Given the description of an element on the screen output the (x, y) to click on. 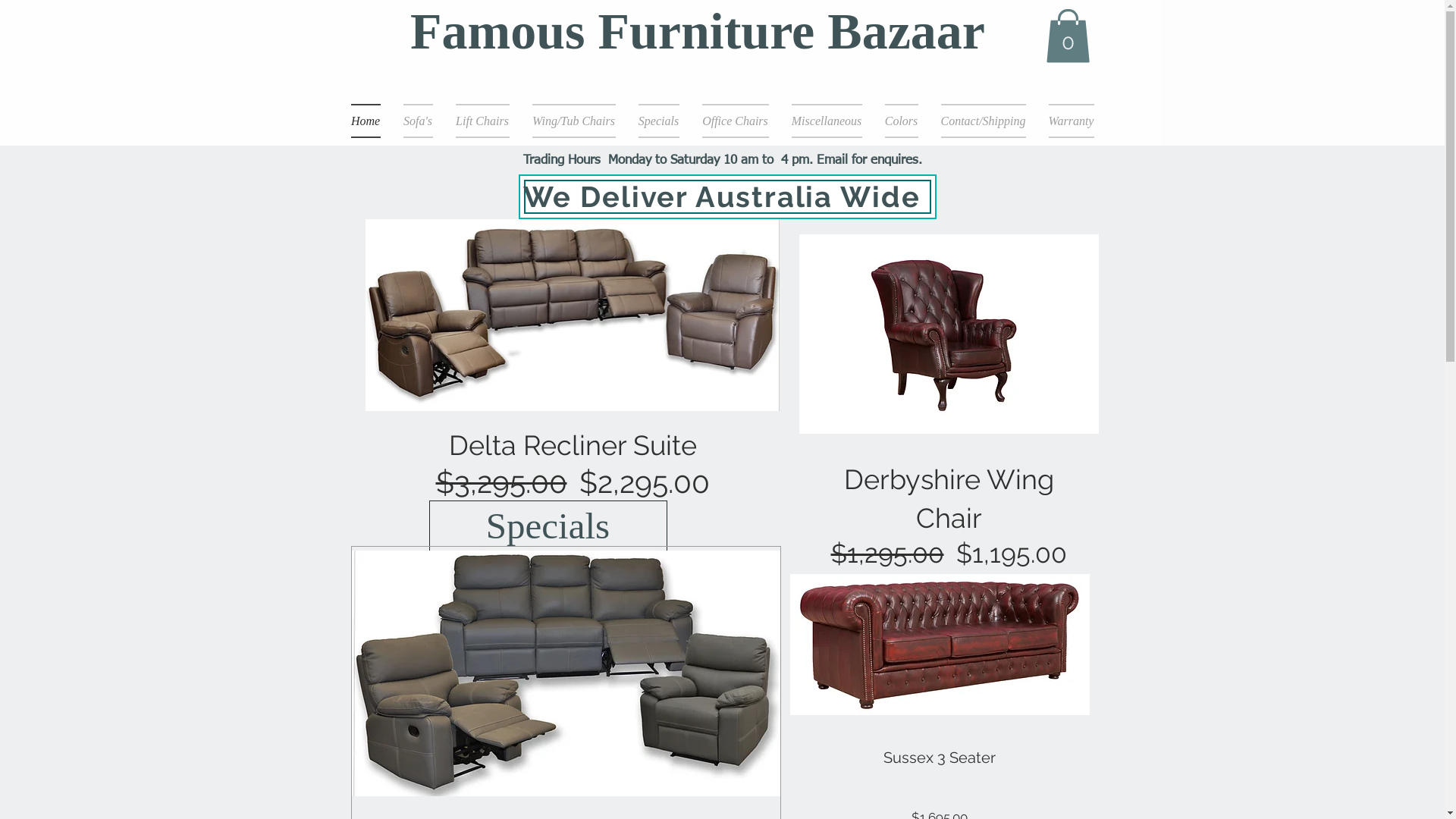
Sofa's Element type: text (417, 120)
Wing/Tub Chairs Element type: text (573, 120)
Miscellaneous Element type: text (825, 120)
Specials Element type: text (548, 526)
Home Element type: text (370, 120)
Office Chairs Element type: text (734, 120)
Colors Element type: text (901, 120)
Warranty Element type: text (1065, 120)
Specials Element type: text (658, 120)
0 Element type: text (1066, 35)
Contact/Shipping Element type: text (983, 120)
Lift Chairs Element type: text (482, 120)
